Given the description of an element on the screen output the (x, y) to click on. 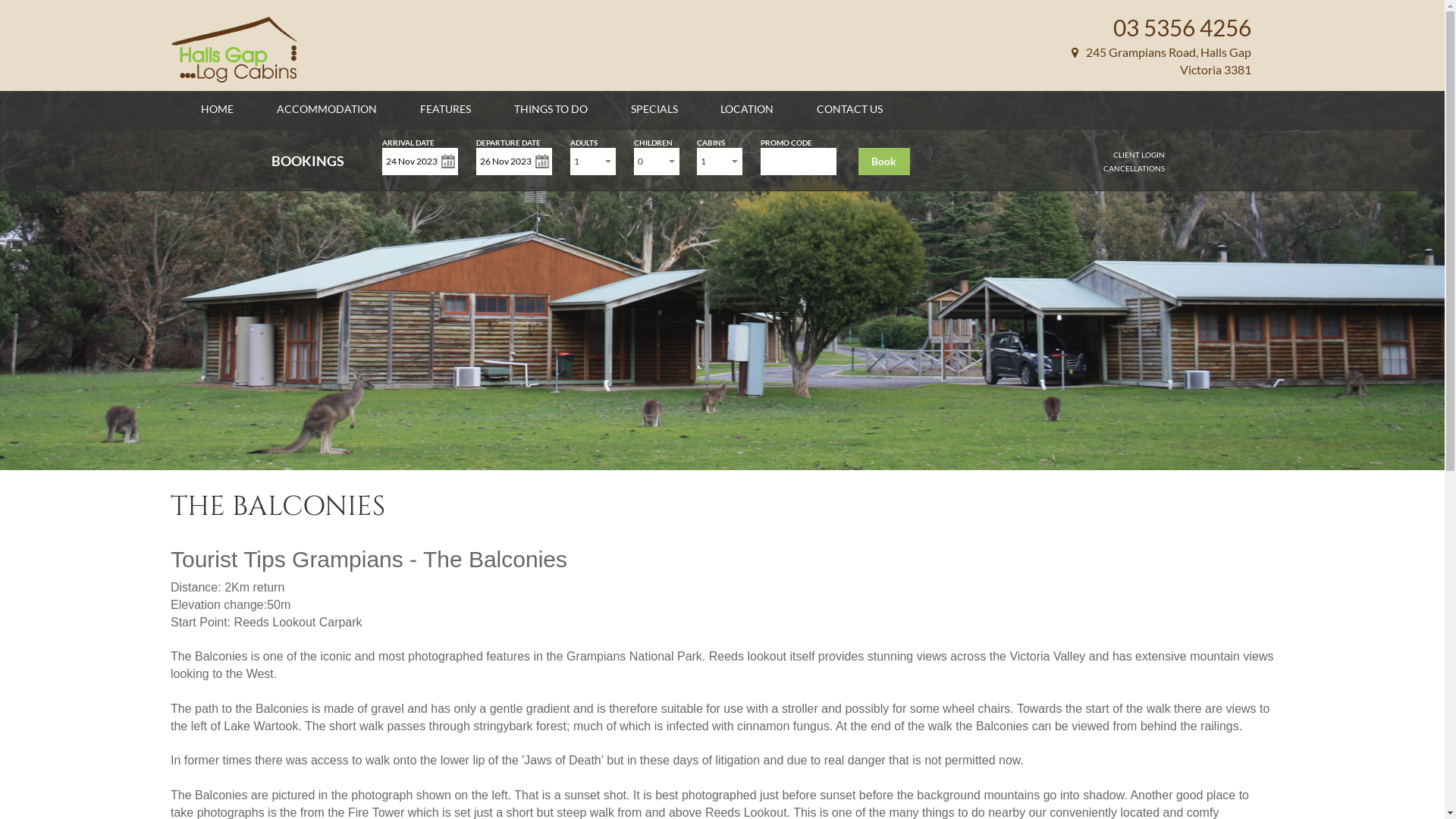
THINGS TO DO Element type: text (550, 109)
03 5356 4256 Element type: text (1182, 26)
SPECIALS Element type: text (653, 109)
CANCELLATIONS Element type: text (1133, 167)
HOME Element type: text (216, 109)
ACCOMMODATION Element type: text (326, 109)
245 Grampians Road, Halls Gap
Victoria 3381 Element type: text (1161, 60)
LOCATION Element type: text (746, 109)
FEATURES Element type: text (445, 109)
Book Element type: text (884, 161)
CLIENT LOGIN Element type: text (1138, 154)
CONTACT US Element type: text (849, 109)
